Given the description of an element on the screen output the (x, y) to click on. 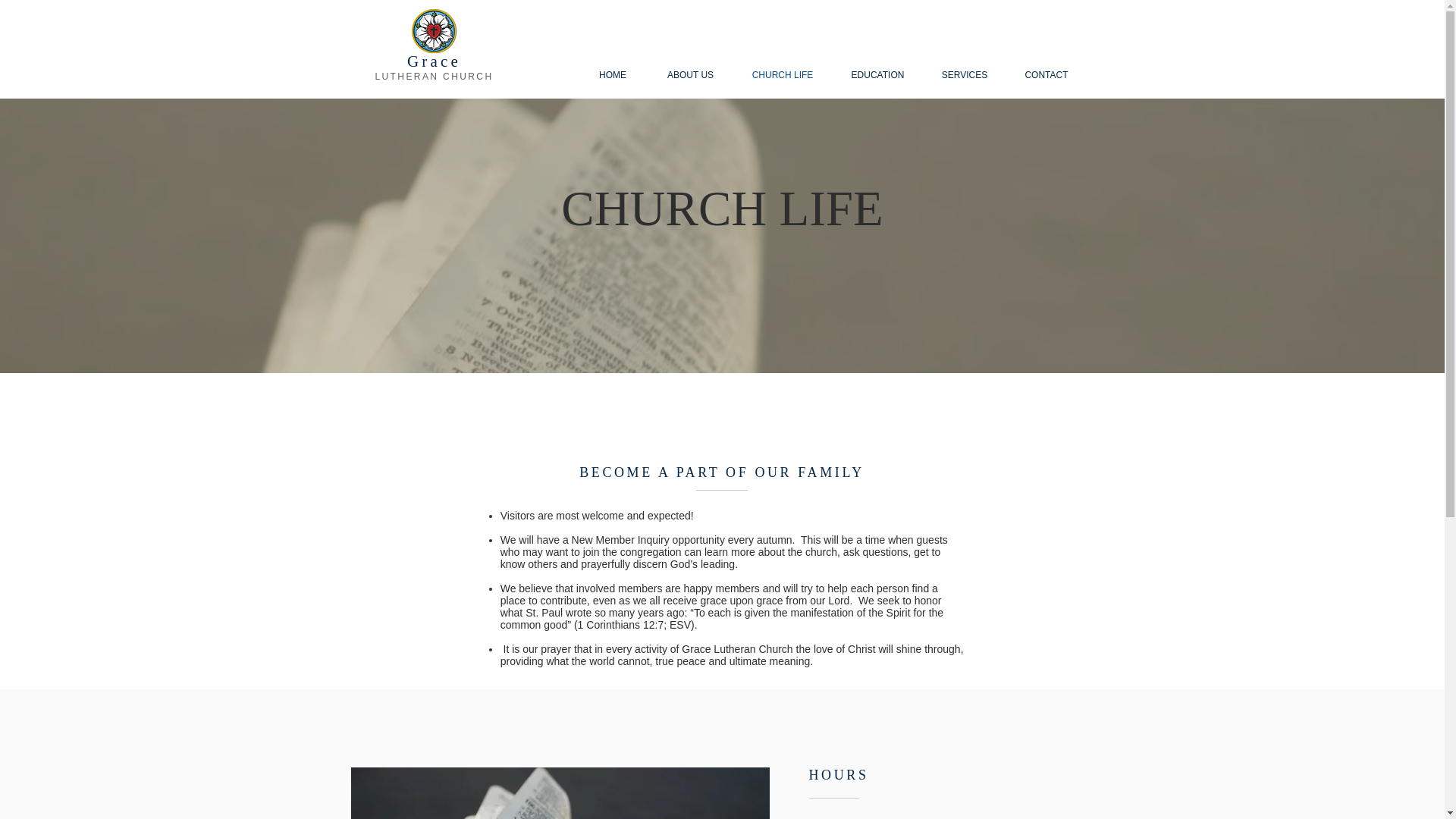
7401A2AA.png (432, 31)
CHURCH LIFE (782, 75)
Grace (434, 61)
CONTACT (1046, 75)
EDUCATION (877, 75)
ABOUT US (690, 75)
HOME (612, 75)
SERVICES (963, 75)
